Given the description of an element on the screen output the (x, y) to click on. 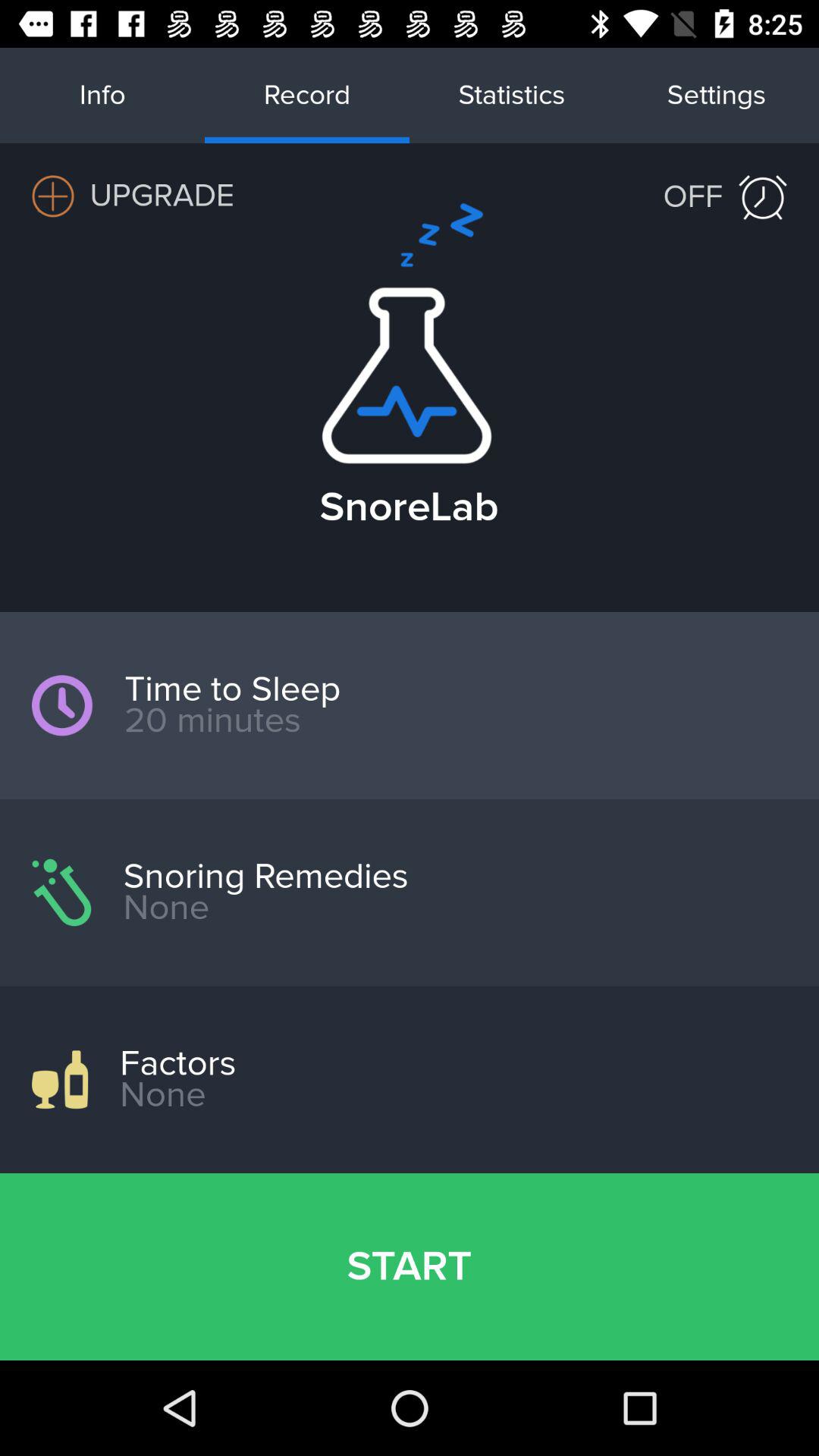
press the start (409, 1266)
